Given the description of an element on the screen output the (x, y) to click on. 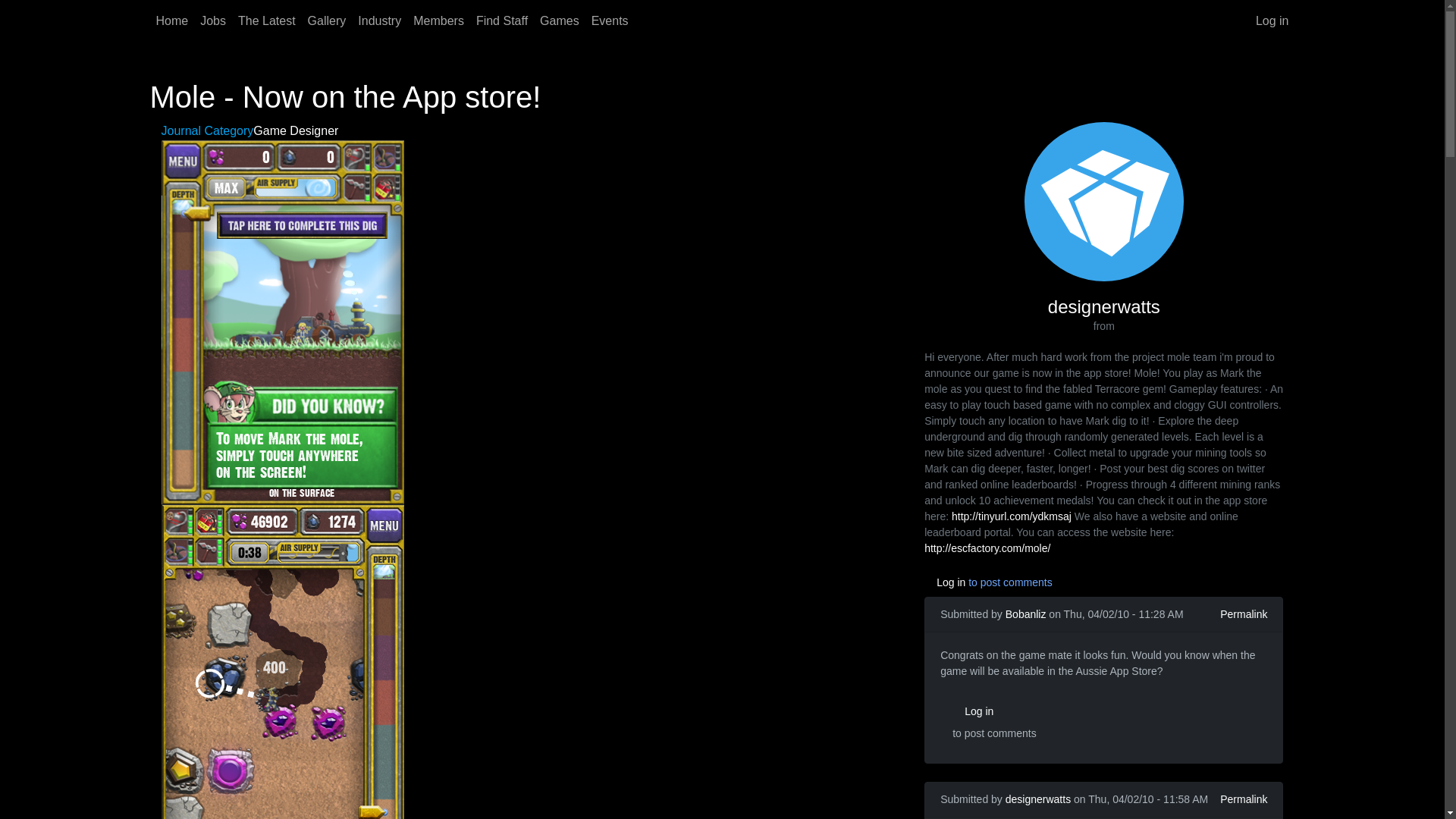
View user profile. (1038, 799)
Game Designer (295, 130)
The Latest (266, 20)
Aussi App Stor (992, 656)
View user profile. (1026, 613)
Gallery (326, 20)
Find Staff (502, 20)
Permalink (1243, 799)
Log in (1272, 20)
Bobanliz (1026, 613)
Mole - Now on the App store! (281, 684)
Jobs (212, 20)
Members (438, 20)
Log in (994, 711)
designerwatts (1038, 799)
